Given the description of an element on the screen output the (x, y) to click on. 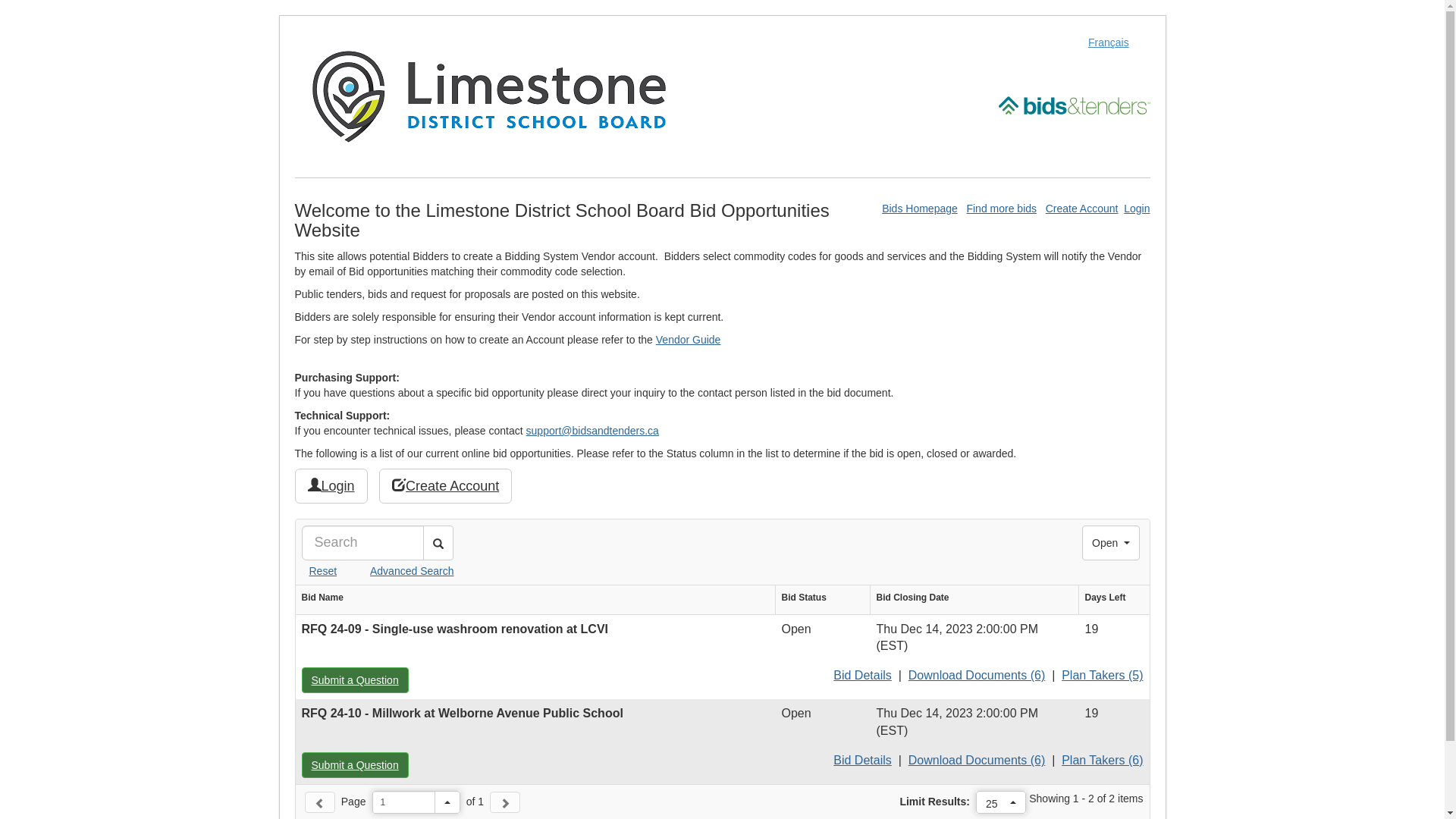
Next Page Element type: text (504, 801)
Open Limestone District School Board site in a new window Element type: hover (488, 95)
Previous Page Element type: text (319, 801)
Skip to Content (Press Enter) Element type: text (0, 0)
25
Toggle Drop Down Element type: text (1000, 801)
Advanced Search Element type: text (396, 570)
Open
Toggle Filters Element type: text (1110, 542)
Bids Homepage Element type: text (919, 208)
support@bidsandtenders.ca Element type: text (592, 430)
Reset Element type: text (319, 570)
Open Bids and Tenders site in a new window Element type: hover (1073, 104)
Create Account Element type: text (445, 485)
Find more bids Element type: text (1001, 208)
Login Element type: text (1136, 208)
Vendor Guide Element type: text (688, 339)
Toggle Drop Down Element type: text (447, 801)
Search Element type: text (438, 542)
Create Account Element type: text (1081, 208)
Login Element type: text (330, 485)
